Given the description of an element on the screen output the (x, y) to click on. 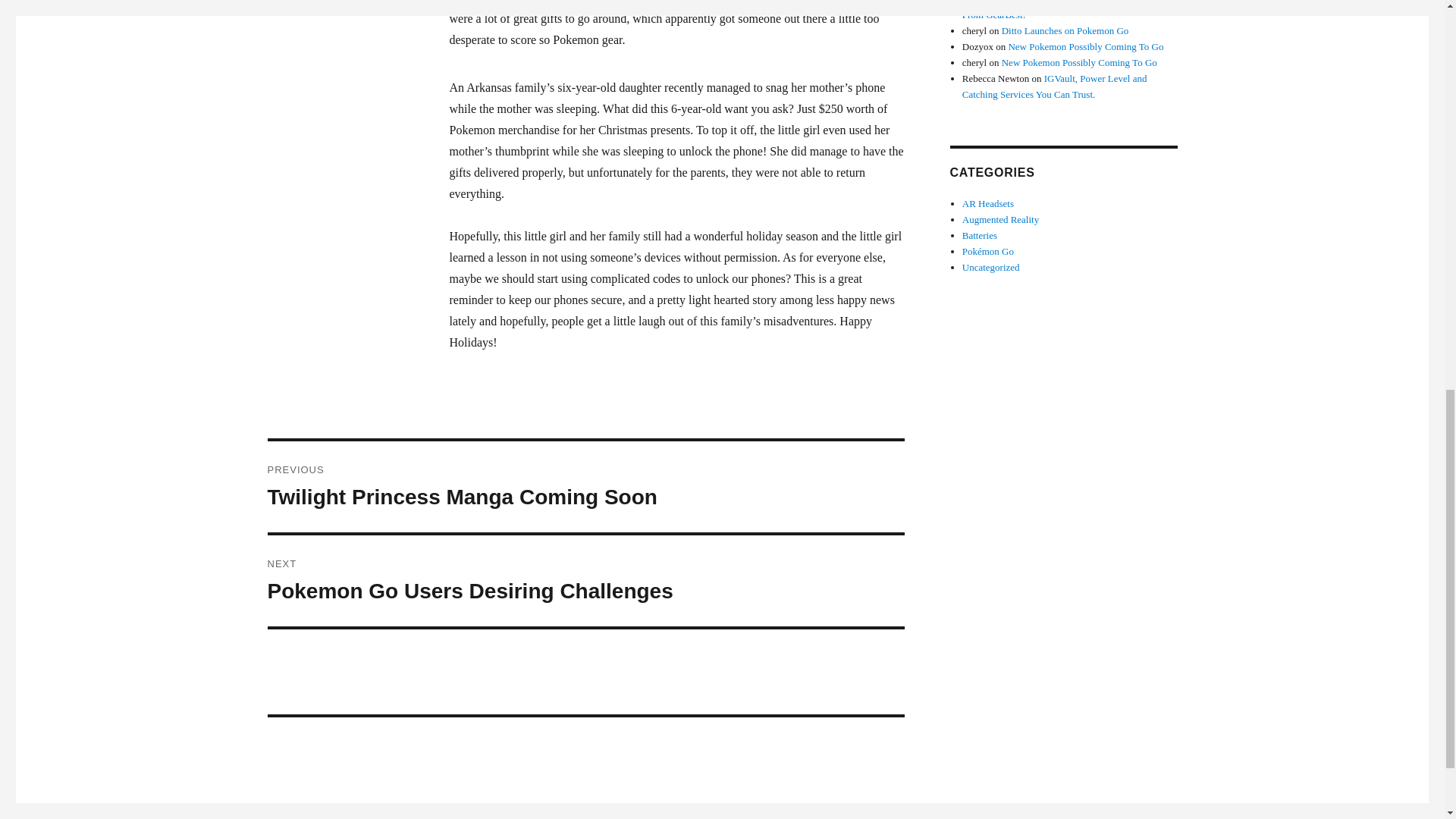
Don Mubanga (990, 2)
AR Headsets (987, 203)
Cute Pokemon Mugs Available From GearBest! (1059, 10)
Uncategorized (991, 266)
Augmented Reality (1000, 219)
IGVault, Power Level and Catching Services You Can Trust. (1054, 85)
New Pokemon Possibly Coming To Go (1079, 61)
Batteries (979, 235)
Ditto Launches on Pokemon Go (1065, 30)
